Given the description of an element on the screen output the (x, y) to click on. 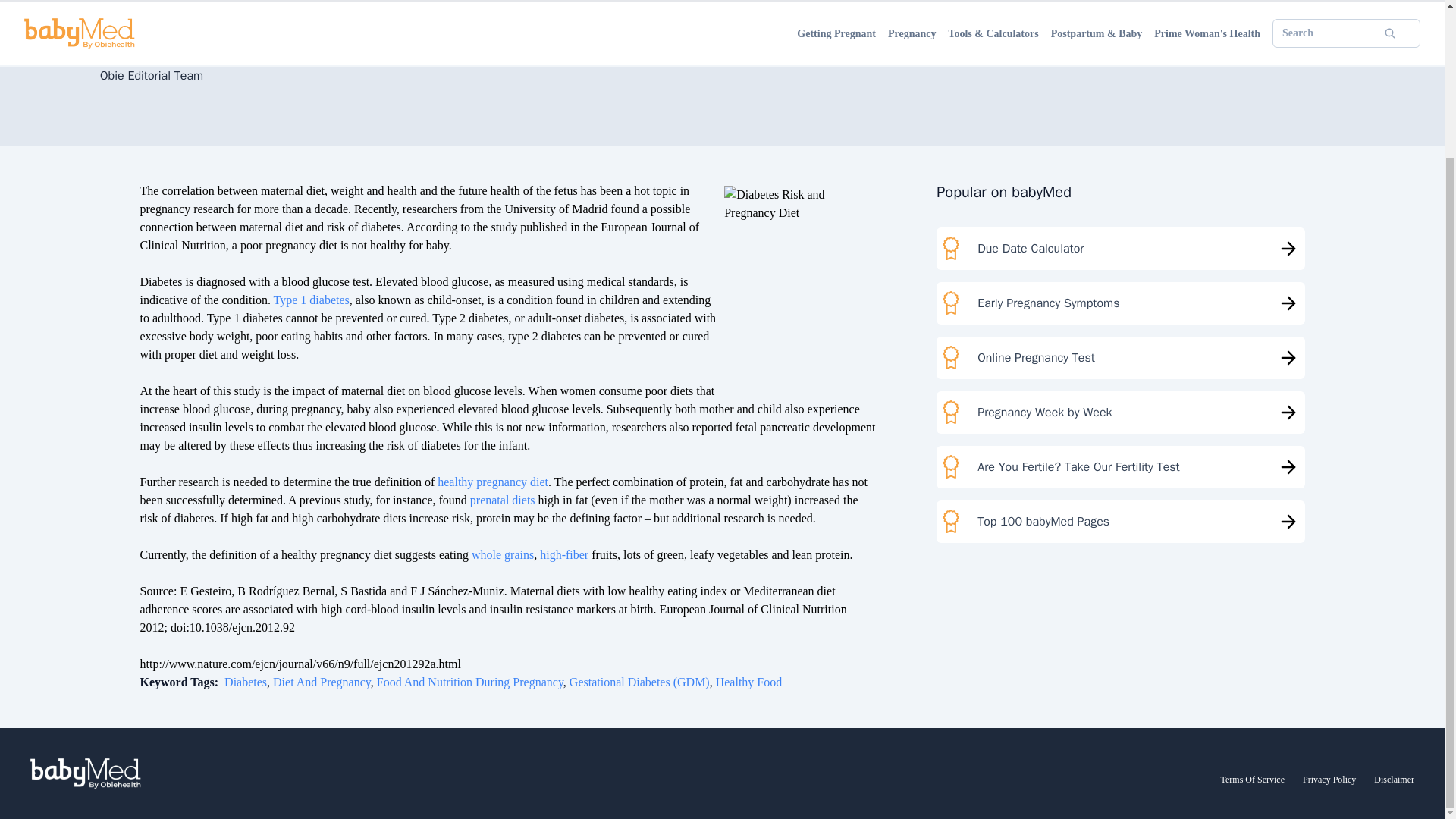
prenatal diets (501, 499)
Type 1 diabetes (311, 299)
Disclaimer (1393, 778)
Are You Fertile? Take Our Fertility Test (1120, 466)
Keyword Tags:Diabetes (202, 681)
Due Date Calculator (1120, 248)
Privacy Policy (1329, 778)
Food And Nutrition During Pregnancy (470, 681)
Top 100 babyMed Pages (1120, 521)
Terms Of Service (1252, 778)
